Given the description of an element on the screen output the (x, y) to click on. 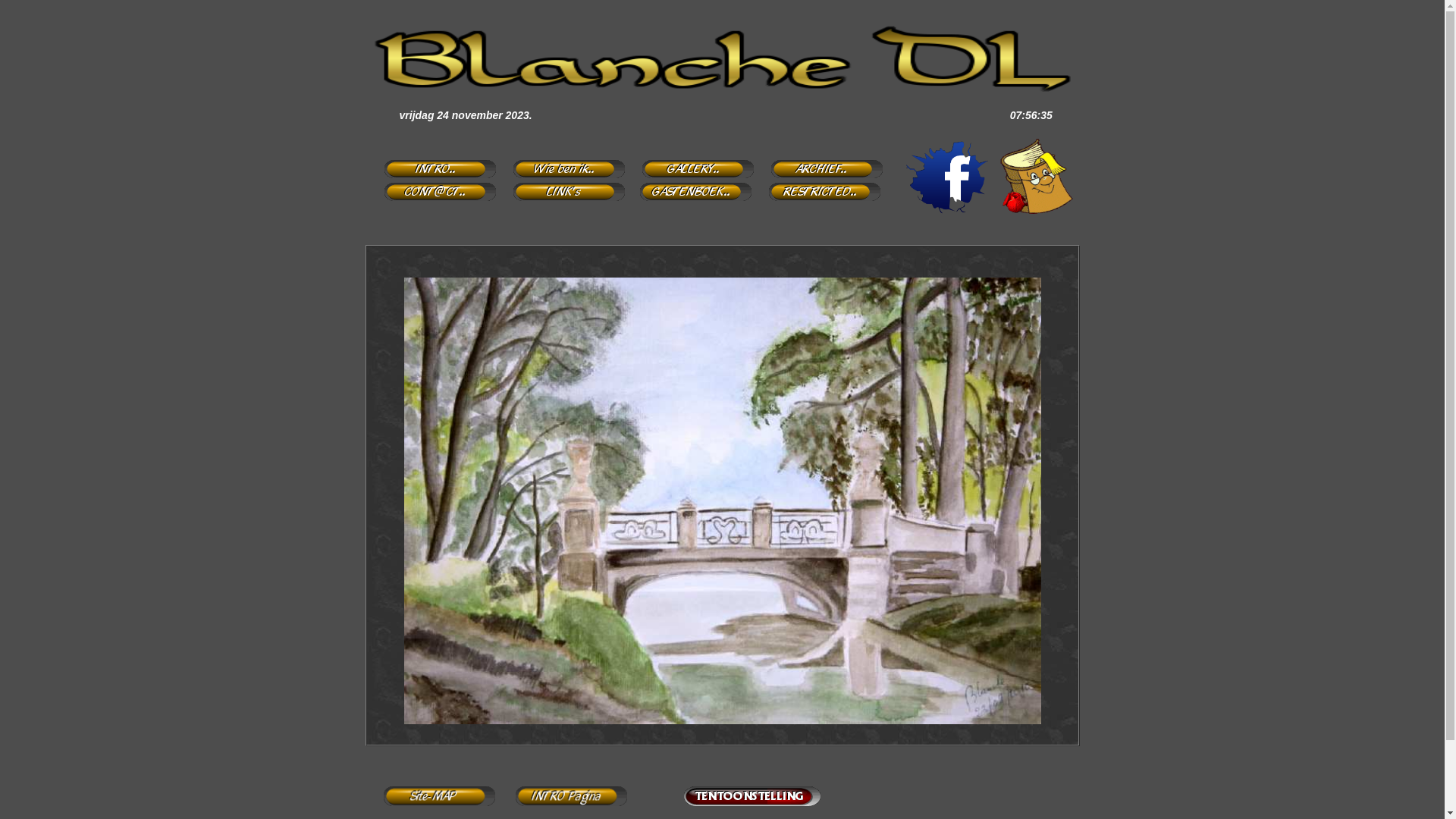
       Element type: text (560, 198)
       Element type: text (561, 175)
       Element type: text (818, 175)
       Element type: text (433, 175)
       Element type: text (433, 198)
       Element type: text (689, 175)
       Element type: text (816, 198)
